Given the description of an element on the screen output the (x, y) to click on. 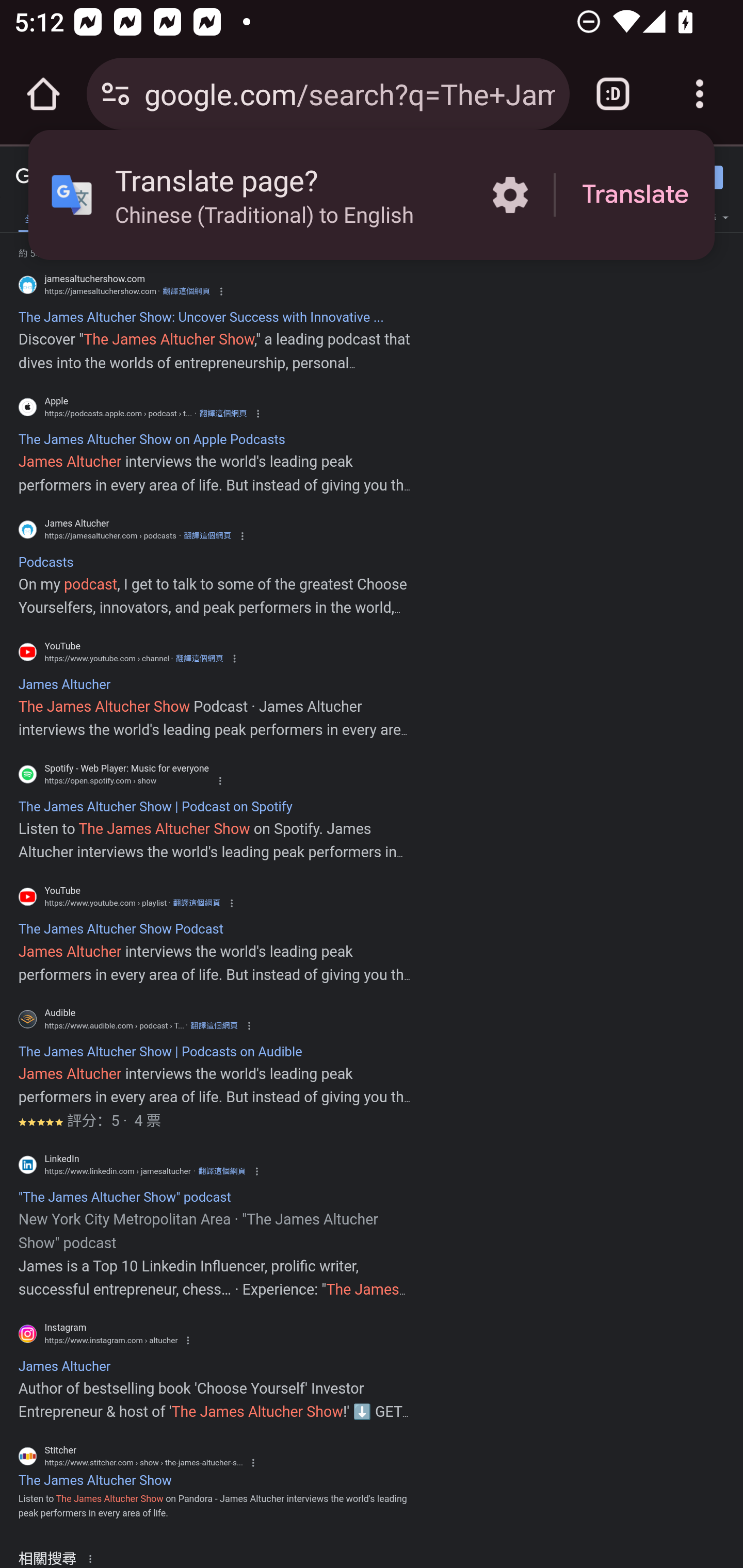
Open the home page (43, 93)
Connection is secure (115, 93)
Switch or close tabs (612, 93)
Customize and control Google Chrome (699, 93)
Translate (634, 195)
More options in the Translate page? (509, 195)
翻譯這個網頁 (185, 291)
翻譯這個網頁 (223, 413)
翻譯這個網頁 (207, 535)
翻譯這個網頁 (199, 658)
翻譯這個網頁 (196, 902)
翻譯這個網頁 (213, 1025)
翻譯這個網頁 (221, 1171)
關於此結果 (93, 1557)
